Given the description of an element on the screen output the (x, y) to click on. 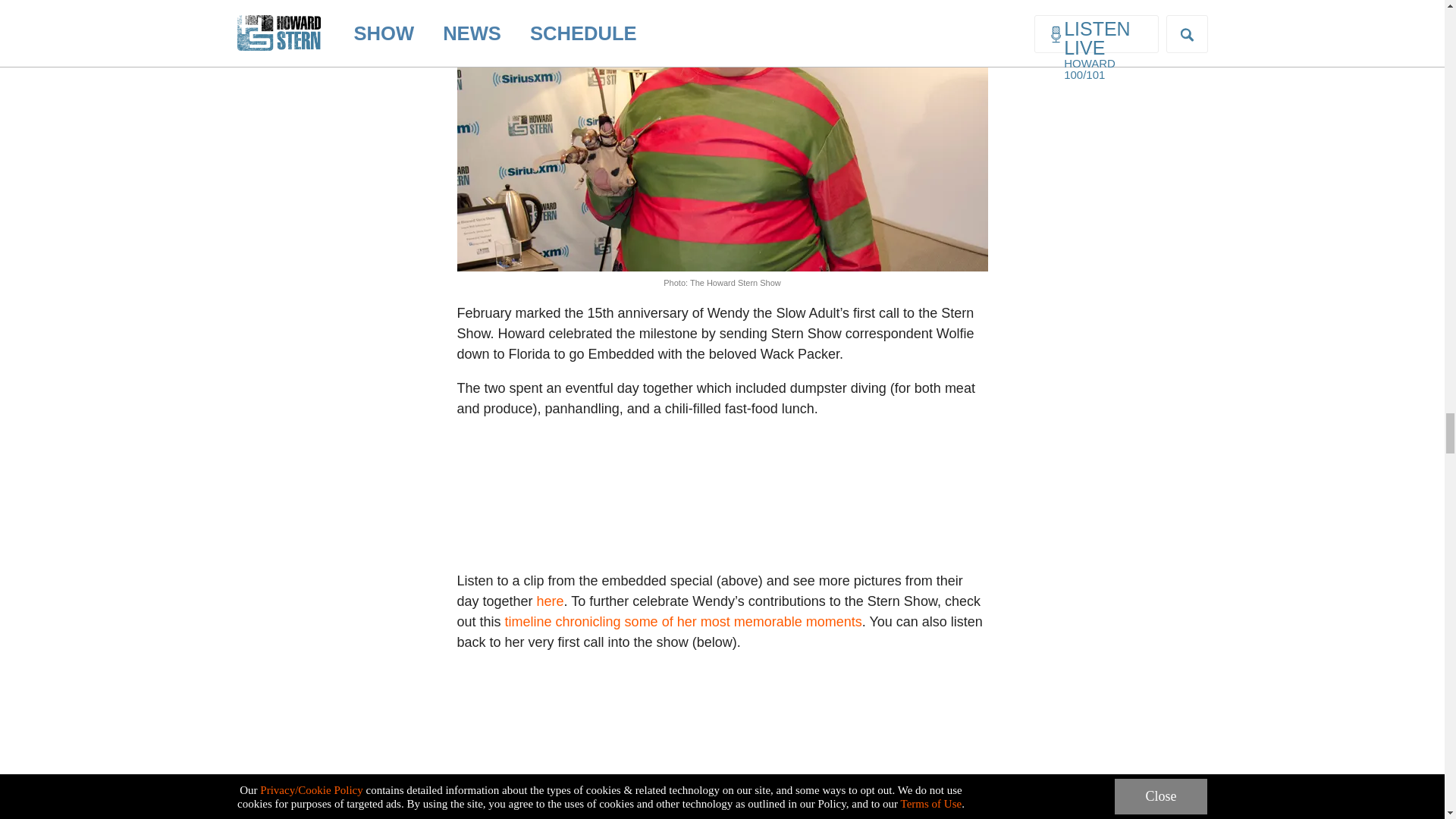
here (550, 601)
timeline chronicling some of her most memorable moments (683, 621)
